Given the description of an element on the screen output the (x, y) to click on. 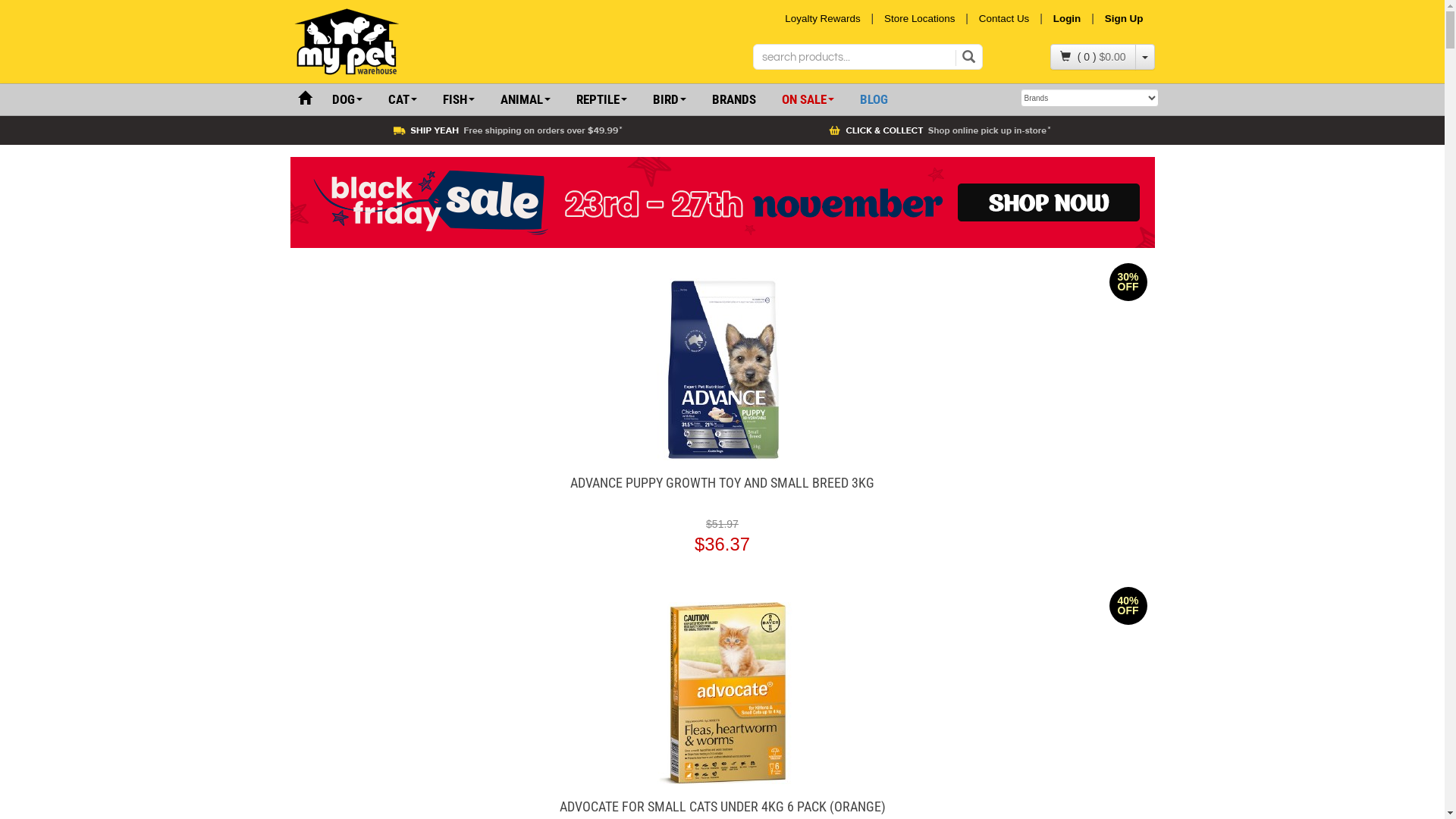
FISH Element type: text (457, 99)
Store Locations Element type: text (919, 18)
BRANDS Element type: text (733, 99)
www.mypetwarehouse.com.au Element type: hover (390, 41)
ON SALE Element type: text (807, 99)
Loyalty Rewards Element type: text (821, 18)
Home Element type: hover (303, 99)
Toggle Dropdown Element type: text (1144, 56)
REPTILE Element type: text (600, 99)
( 0 ) $0.00 Element type: text (1092, 56)
BIRD Element type: text (669, 99)
BLOG Element type: text (873, 99)
DOG Element type: text (346, 99)
ANIMAL Element type: text (524, 99)
Contact Us Element type: text (1004, 18)
$0.00 Element type: text (1111, 56)
Sign Up Element type: text (1127, 18)
Login Element type: text (1067, 18)
CAT Element type: text (401, 99)
